Given the description of an element on the screen output the (x, y) to click on. 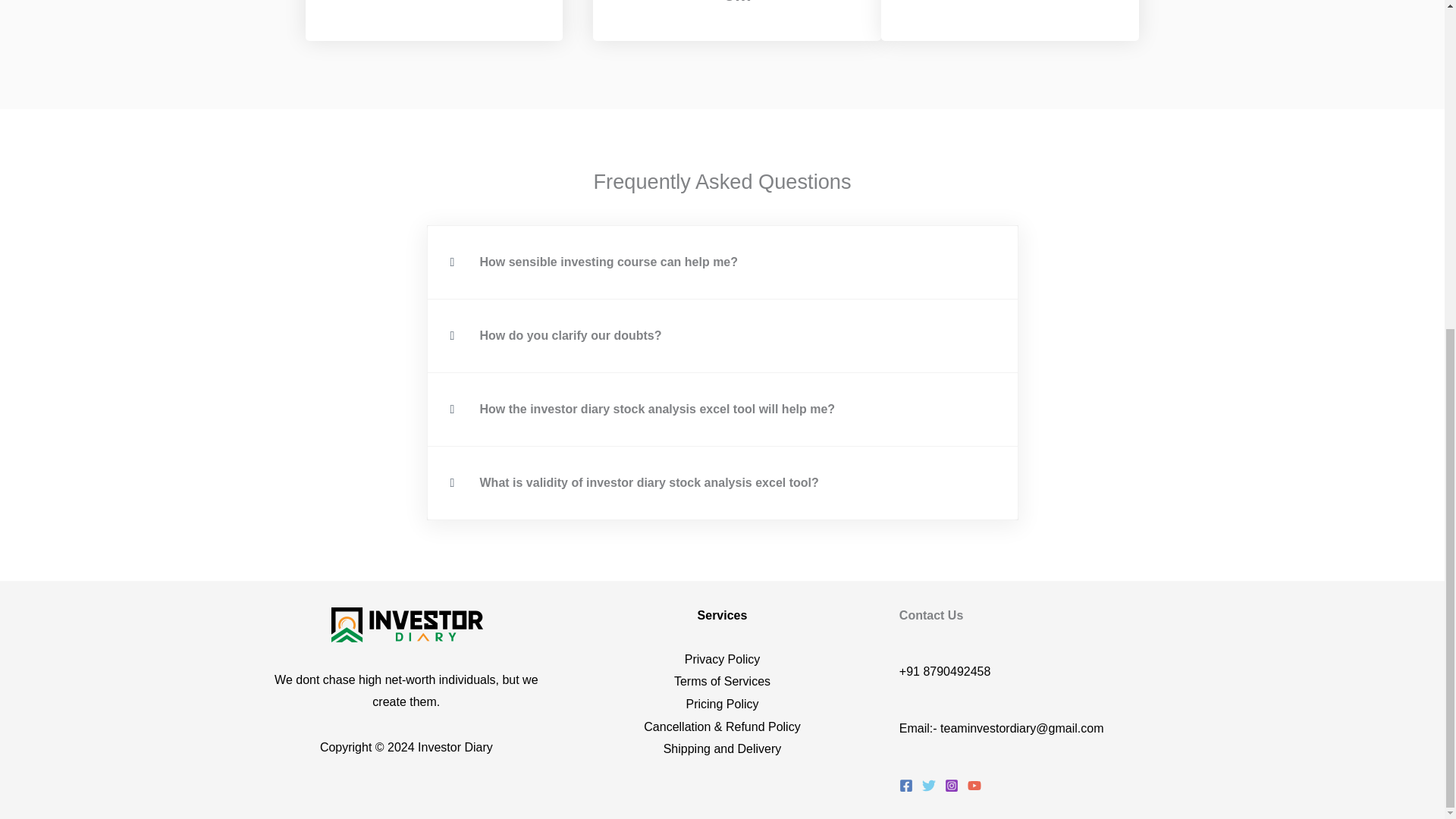
Shipping and Delivery (722, 748)
Pricing Policy (721, 703)
Privacy Policy (722, 658)
Terms of Services (722, 680)
How sensible investing course can help me? (608, 261)
How do you clarify our doubts? (570, 335)
